Given the description of an element on the screen output the (x, y) to click on. 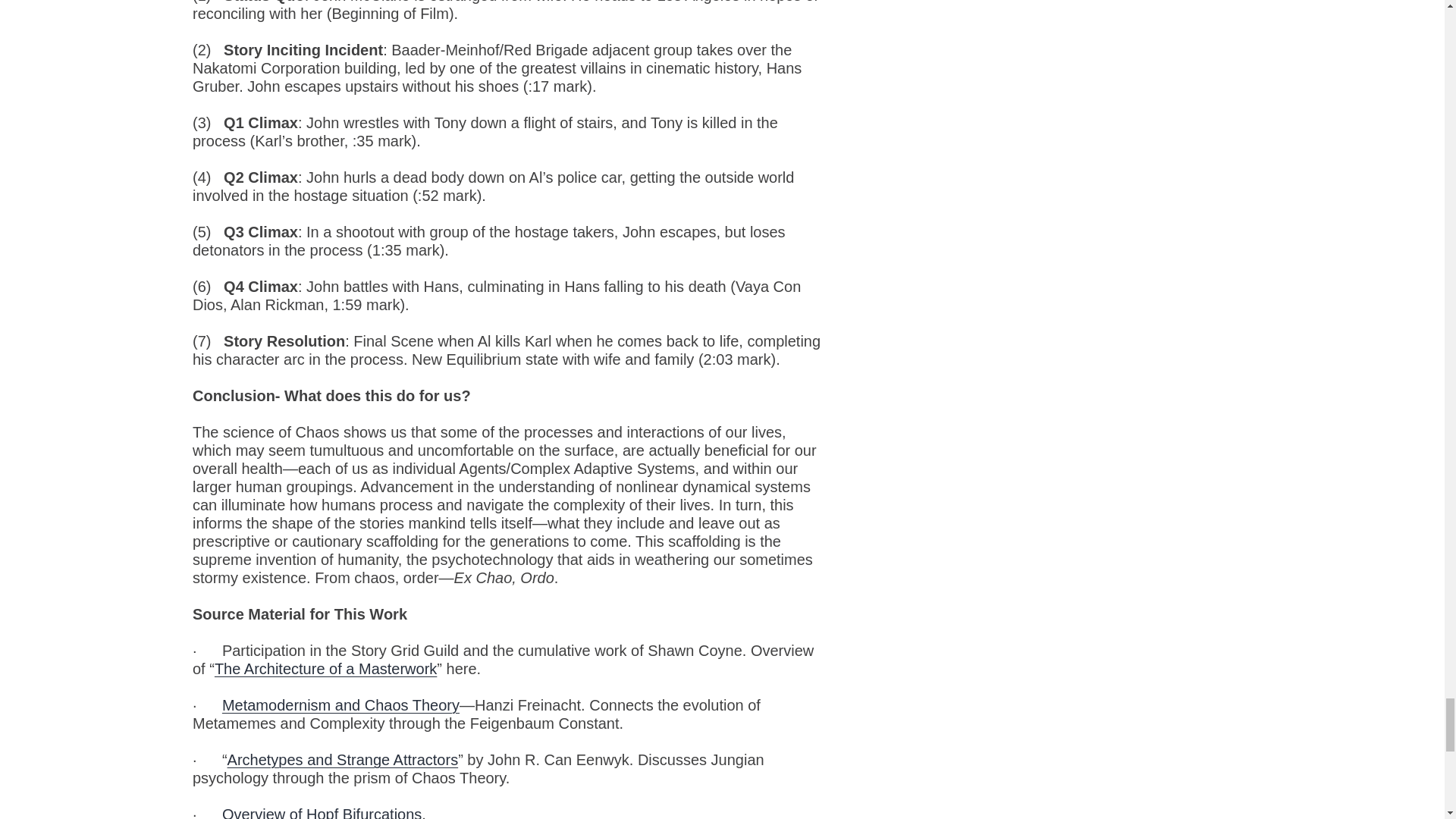
The Architecture of a Masterwork (325, 668)
Archetypes and Strange Attractors (342, 759)
Overview of Hopf Bifurcations (322, 812)
Metamodernism and Chaos Theory (341, 704)
